Given the description of an element on the screen output the (x, y) to click on. 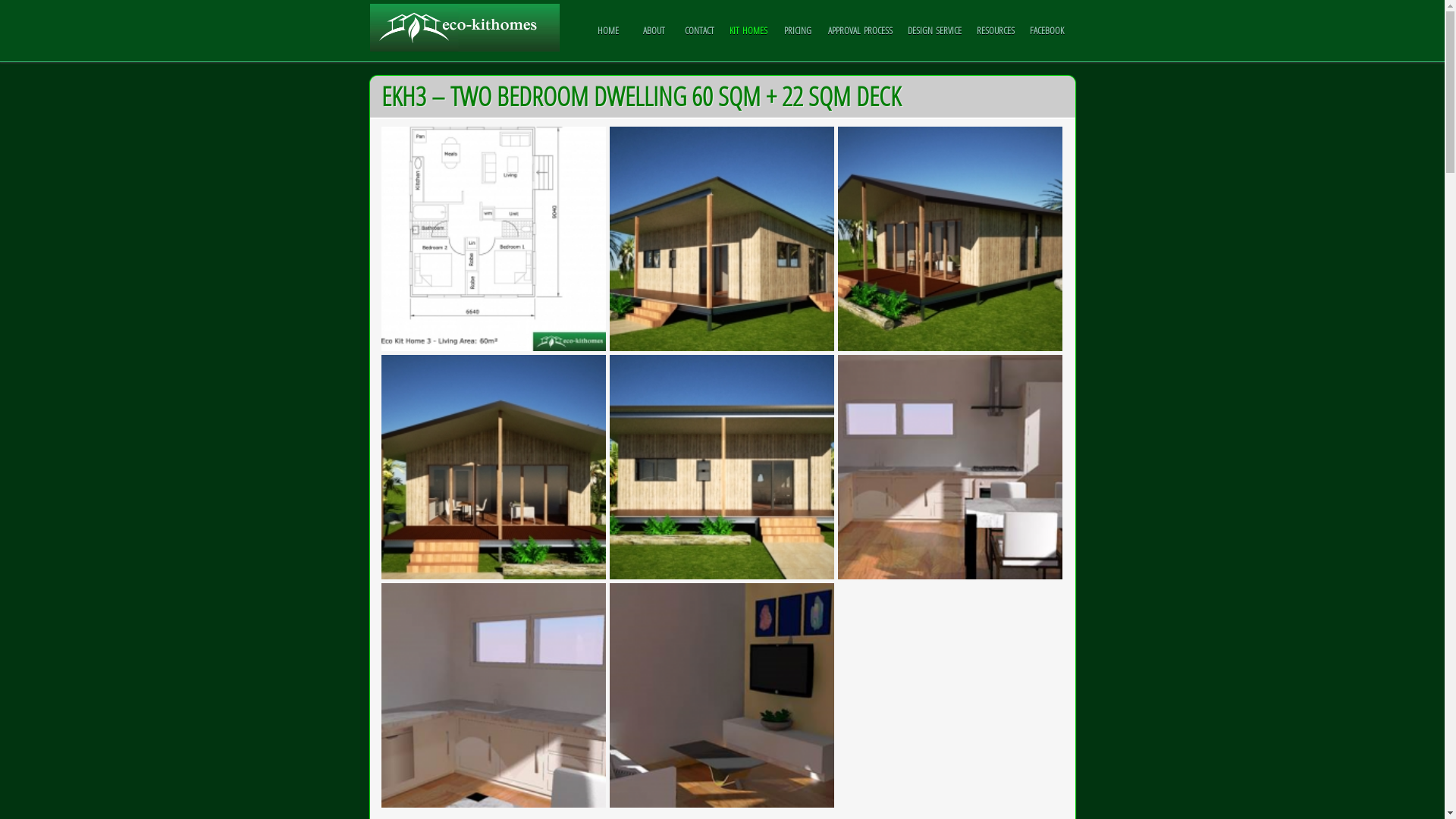
DESIGN SERVICE Element type: text (934, 30)
Kit 4 exterior perspective Element type: hover (721, 238)
Kit 4 exterior front Element type: hover (721, 466)
5 Element type: hover (949, 466)
EKH---3-Floor-Plan-for-Website Element type: hover (492, 238)
Kit 3 exterior perspective Element type: hover (949, 238)
APPROVAL PROCESS Element type: text (860, 30)
3 Element type: hover (721, 695)
HOME Element type: text (607, 30)
4 Element type: hover (492, 695)
RESOURCES Element type: text (995, 30)
CONTACT Element type: text (698, 30)
FACEBOOK Element type: text (1046, 30)
ABOUT Element type: text (653, 30)
KIT HOMES Element type: text (748, 30)
PRICING Element type: text (797, 30)
Kit 3 exterior front Element type: hover (492, 466)
